Given the description of an element on the screen output the (x, y) to click on. 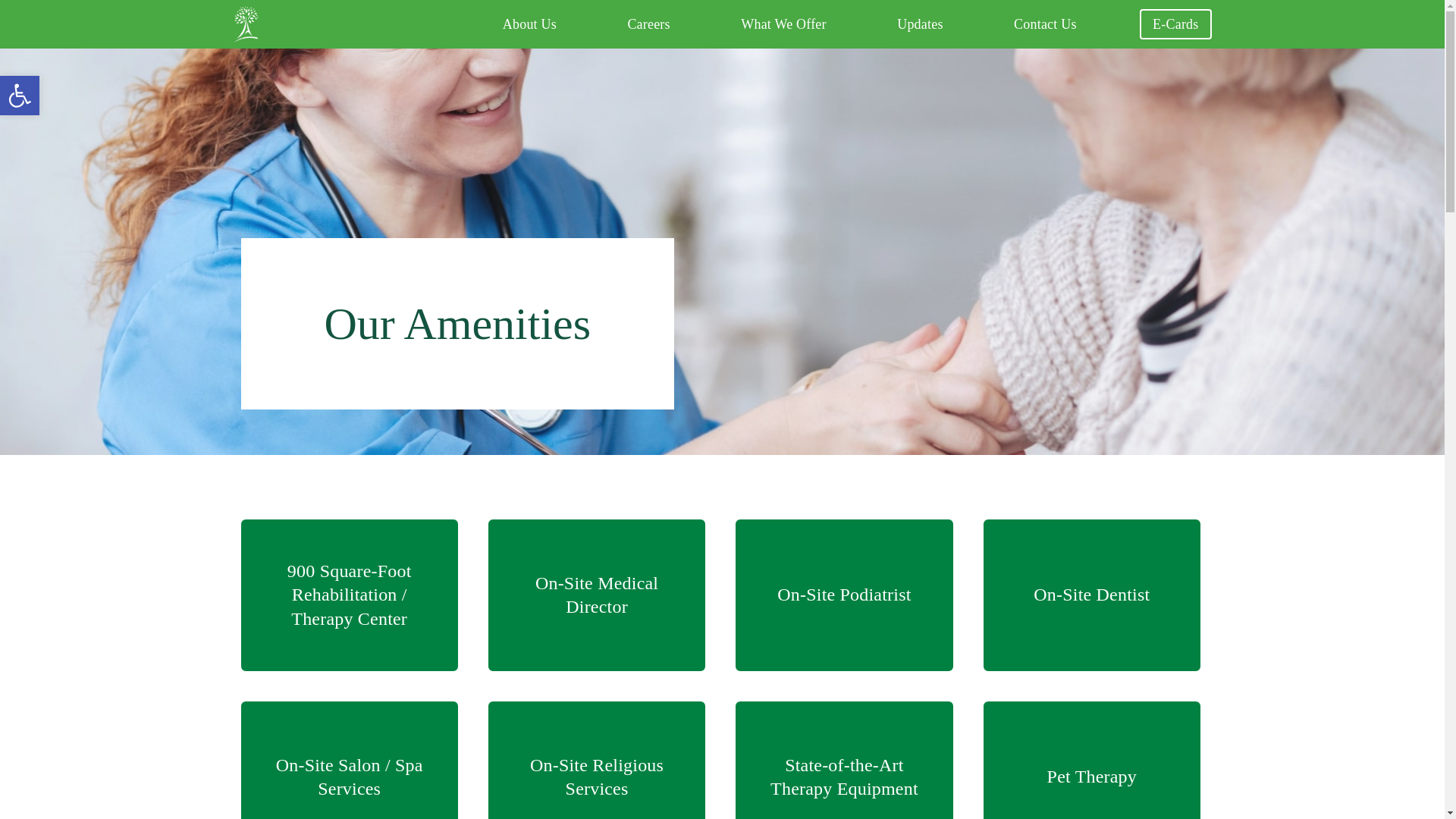
On-Site Medical Director (596, 594)
State-of-the-Art Therapy Equipment (843, 760)
On-Site Podiatrist (843, 594)
On-Site Religious Services (19, 95)
What We Offer (596, 760)
About Us (782, 24)
Accessibility Tools (529, 24)
Updates (19, 95)
E-Cards (919, 24)
Accessibility Tools (1175, 24)
Careers (19, 95)
On-Site Dentist (648, 24)
Pet Therapy (1091, 594)
Contact Us (1091, 760)
